Given the description of an element on the screen output the (x, y) to click on. 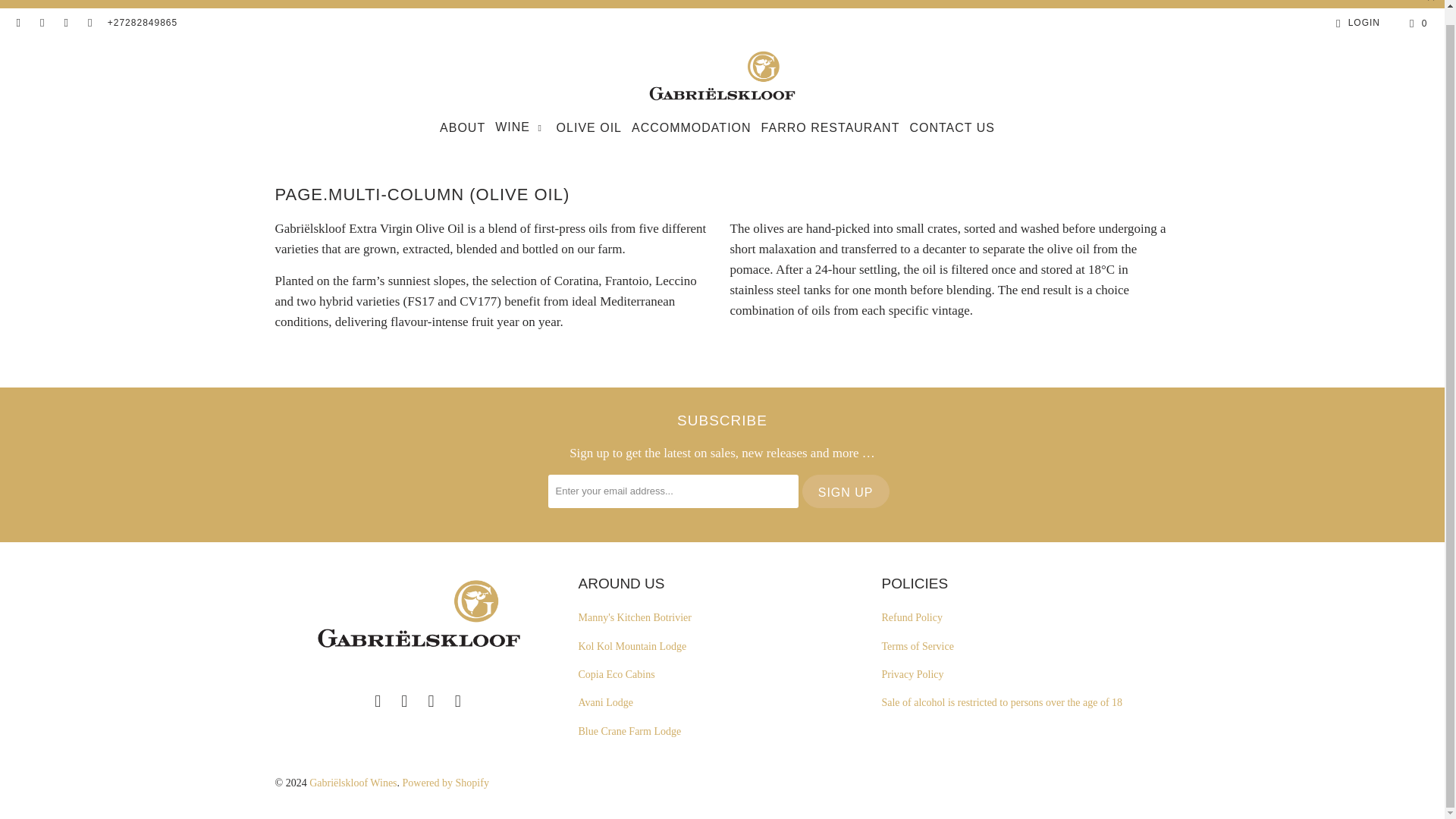
LOGIN (1355, 23)
Sign Up (845, 491)
My Account  (1355, 23)
